Given the description of an element on the screen output the (x, y) to click on. 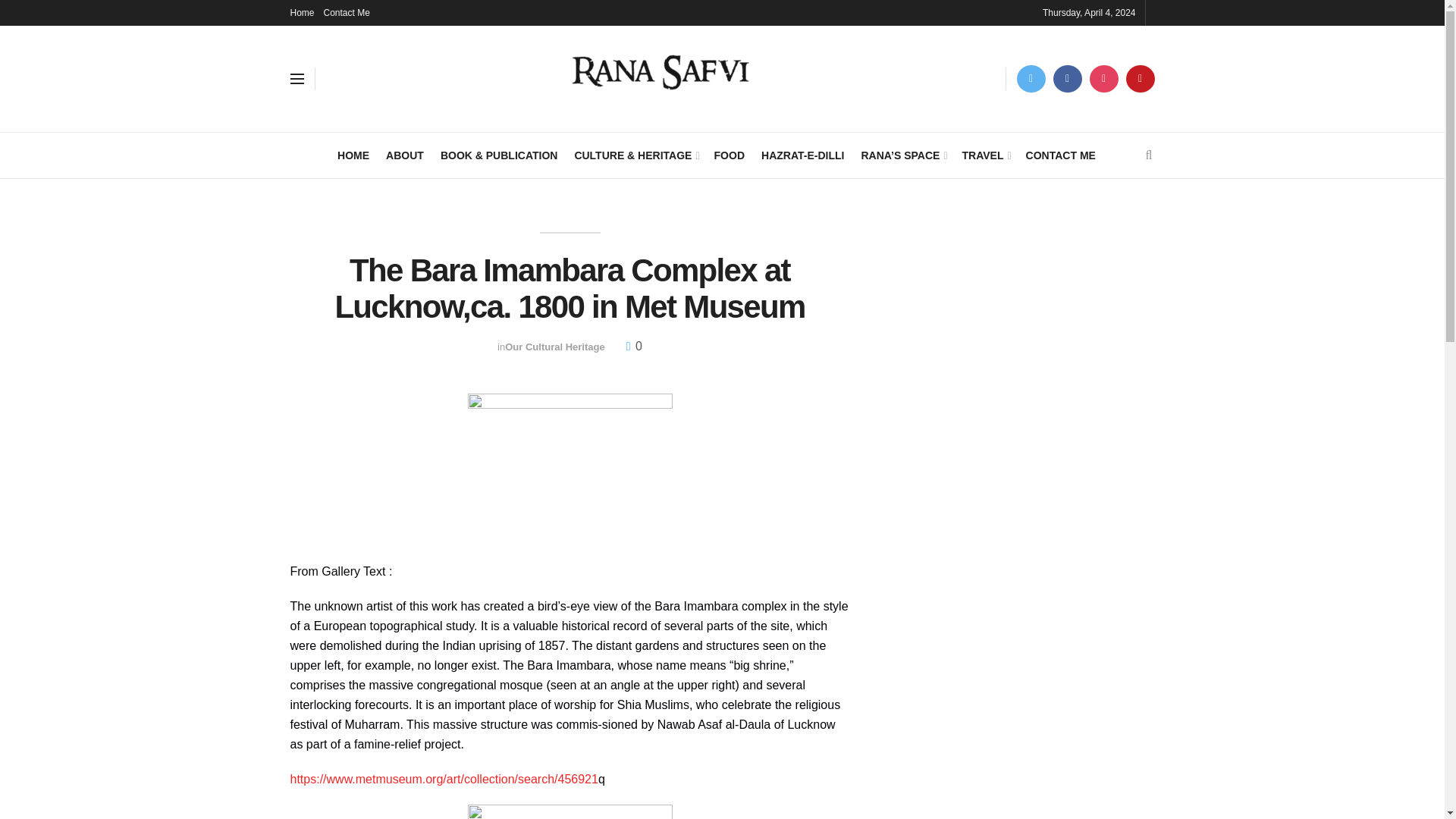
Contact Me (346, 12)
TRAVEL (985, 155)
ABOUT (404, 155)
FOOD (729, 155)
HOME (353, 155)
HAZRAT-E-DILLI (802, 155)
Home (301, 12)
